Given the description of an element on the screen output the (x, y) to click on. 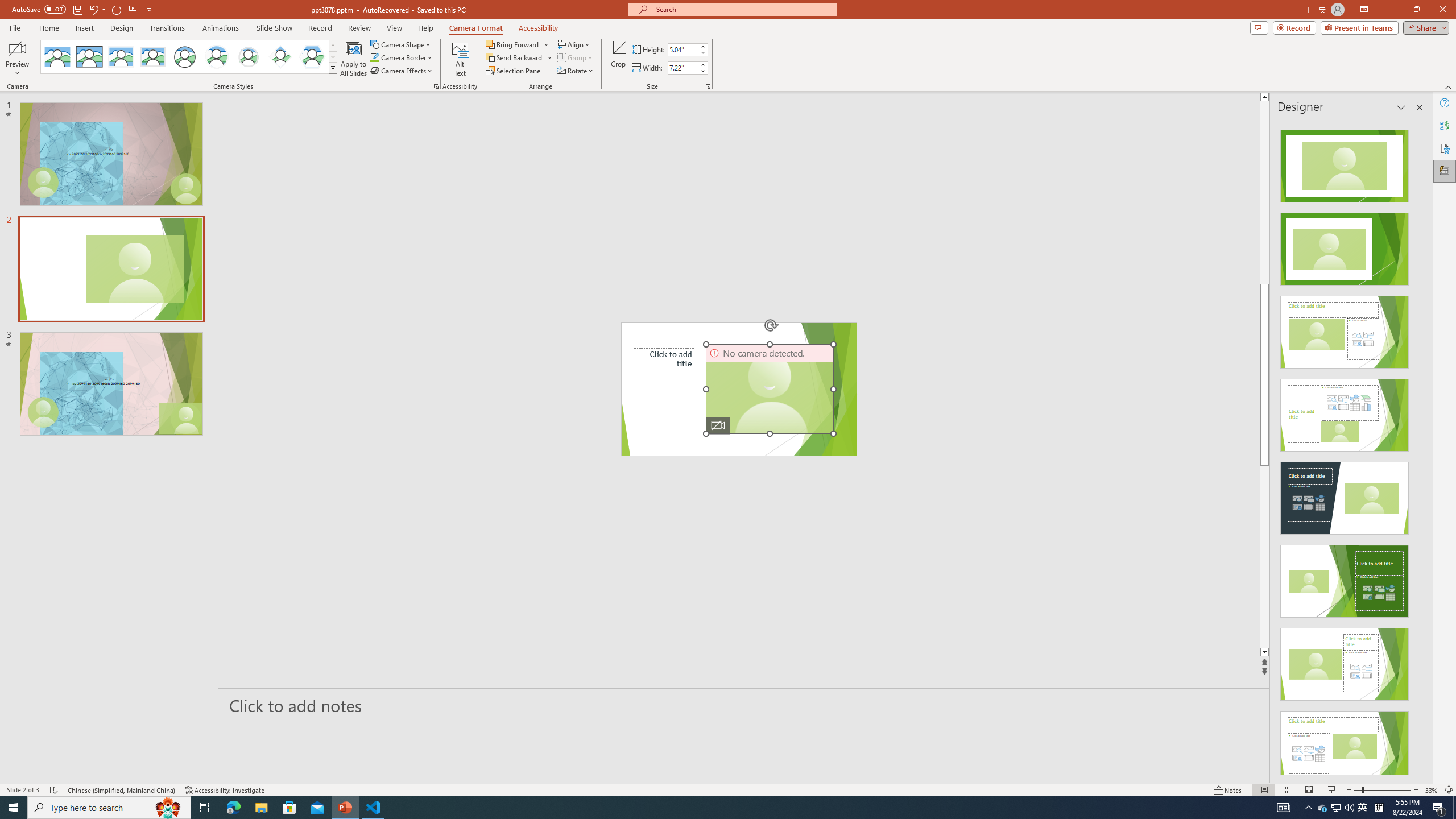
No Style (57, 56)
Soft Edge Rectangle (152, 56)
More (702, 64)
Group (575, 56)
Rotate (575, 69)
Center Shadow Circle (216, 56)
AutomationID: CameoStylesGallery (189, 56)
